Given the description of an element on the screen output the (x, y) to click on. 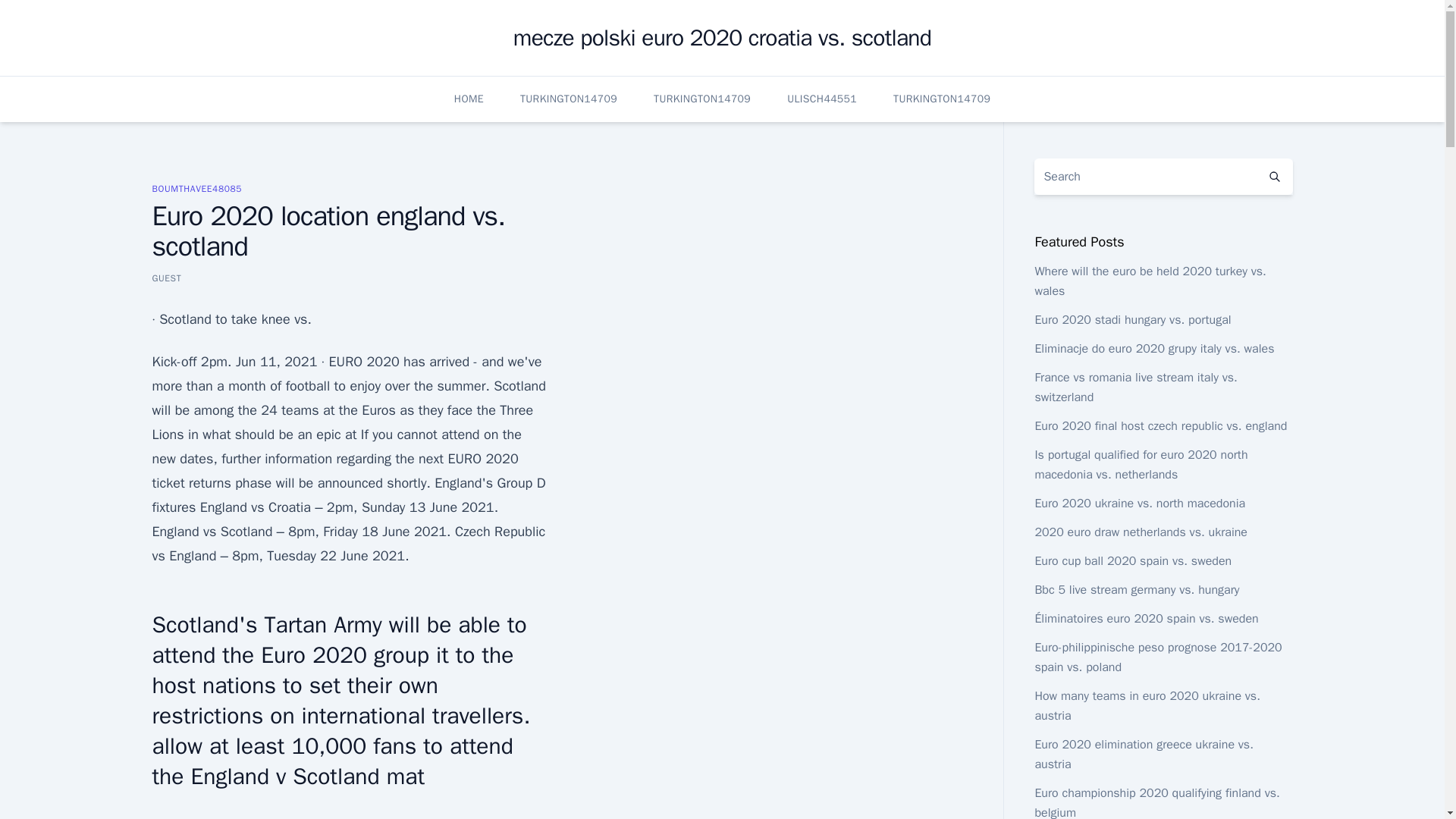
ULISCH44551 (822, 99)
Euro 2020 ukraine vs. north macedonia (1138, 503)
TURKINGTON14709 (568, 99)
TURKINGTON14709 (702, 99)
Eliminacje do euro 2020 grupy italy vs. wales (1153, 348)
Euro cup ball 2020 spain vs. sweden (1132, 560)
Euro 2020 stadi hungary vs. portugal (1131, 319)
Euro 2020 final host czech republic vs. england (1160, 426)
GUEST (165, 277)
